Given the description of an element on the screen output the (x, y) to click on. 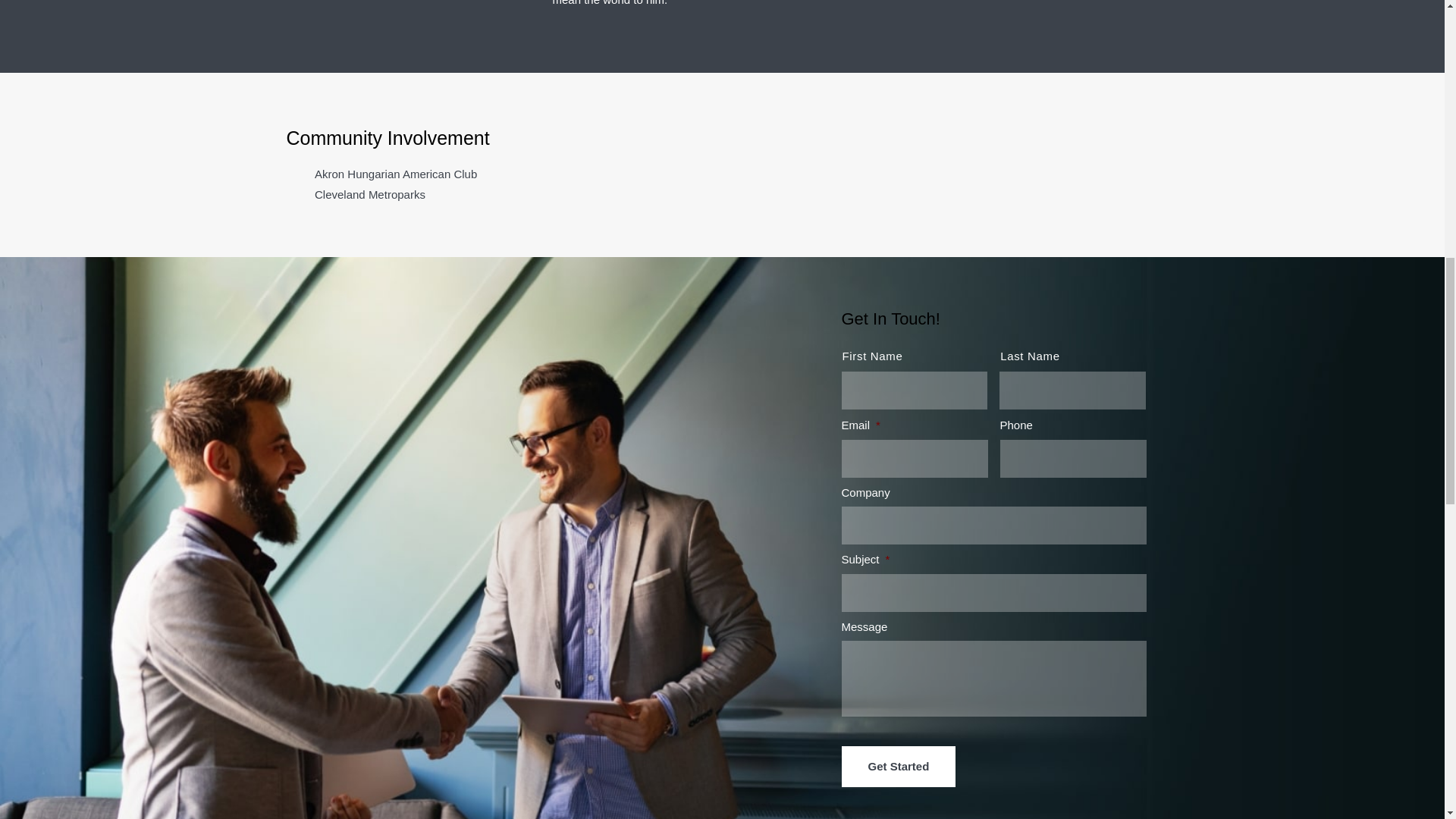
Get Started (898, 766)
